Given the description of an element on the screen output the (x, y) to click on. 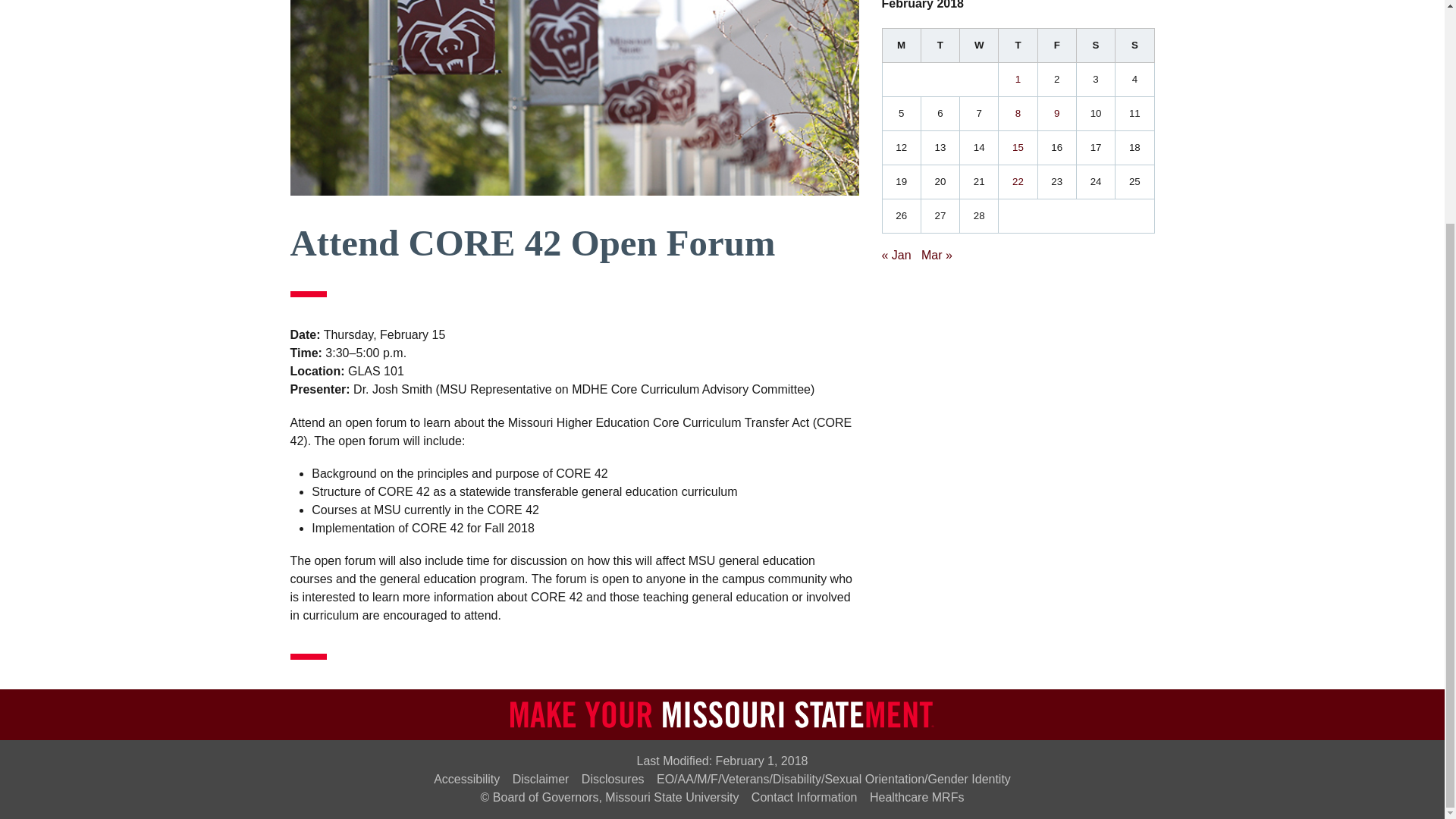
Wednesday (978, 44)
Sunday (1134, 44)
Monday (901, 44)
Thursday (1017, 44)
Tuesday (939, 44)
Saturday (1095, 44)
Friday (1055, 44)
